Given the description of an element on the screen output the (x, y) to click on. 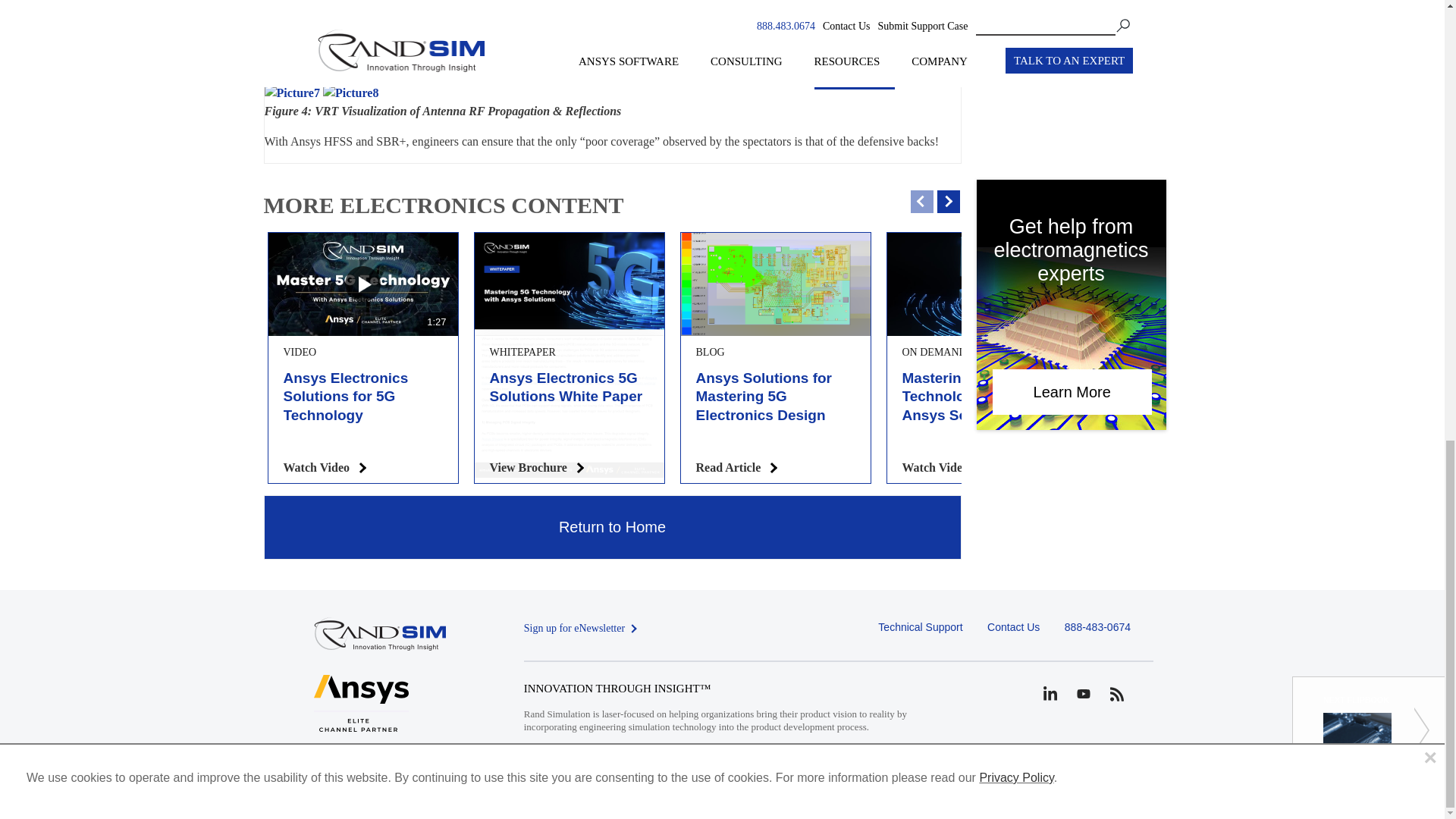
Picture7 (290, 93)
Picture8 (350, 93)
